Given the description of an element on the screen output the (x, y) to click on. 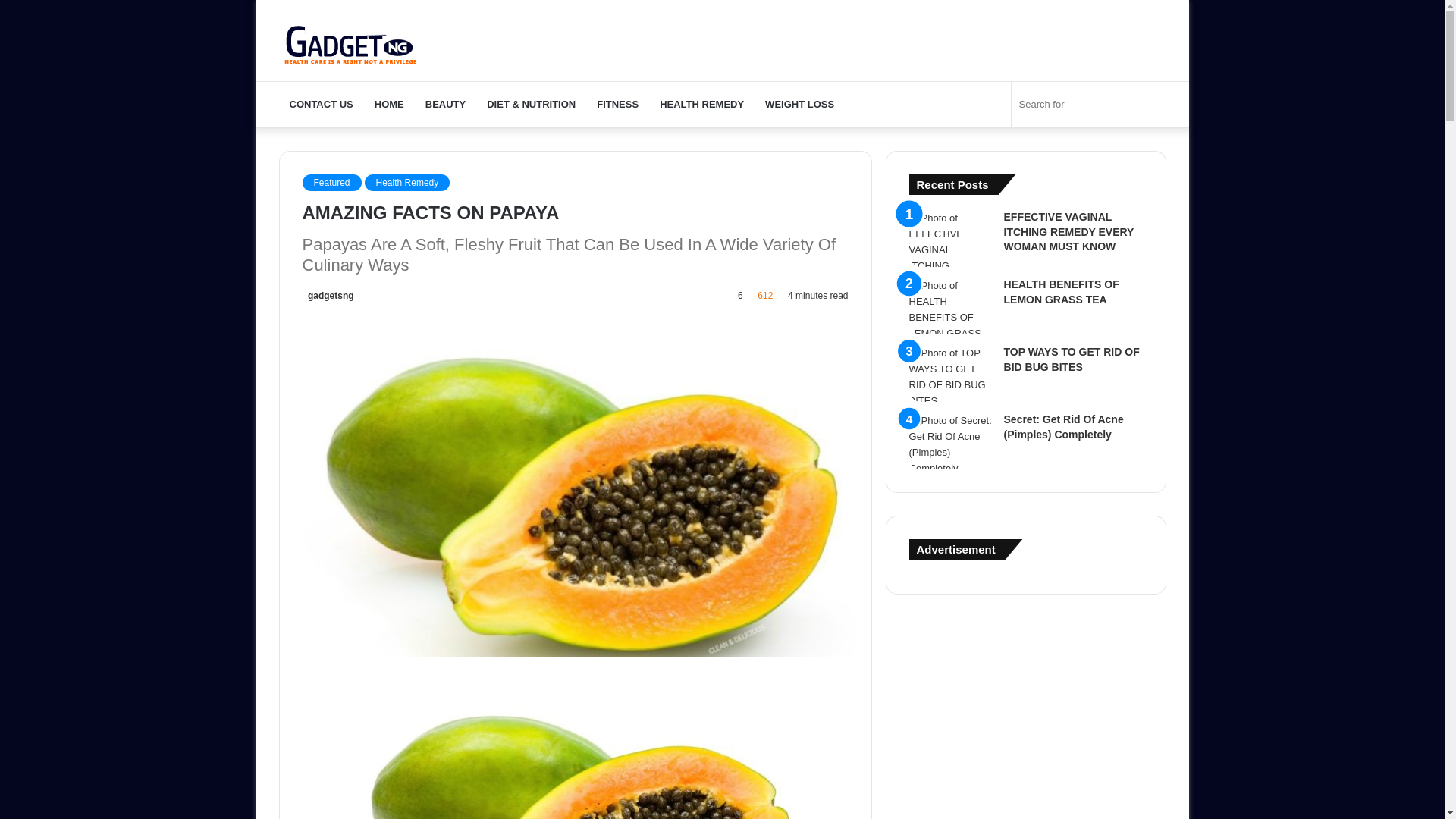
Health GadgetsNG (351, 40)
FITNESS (617, 104)
Health Remedy (407, 182)
gadgetsng (327, 295)
Featured (331, 182)
BEAUTY (445, 104)
HEALTH REMEDY (701, 104)
WEIGHT LOSS (799, 104)
gadgetsng (327, 295)
CONTACT US (321, 104)
